Given the description of an element on the screen output the (x, y) to click on. 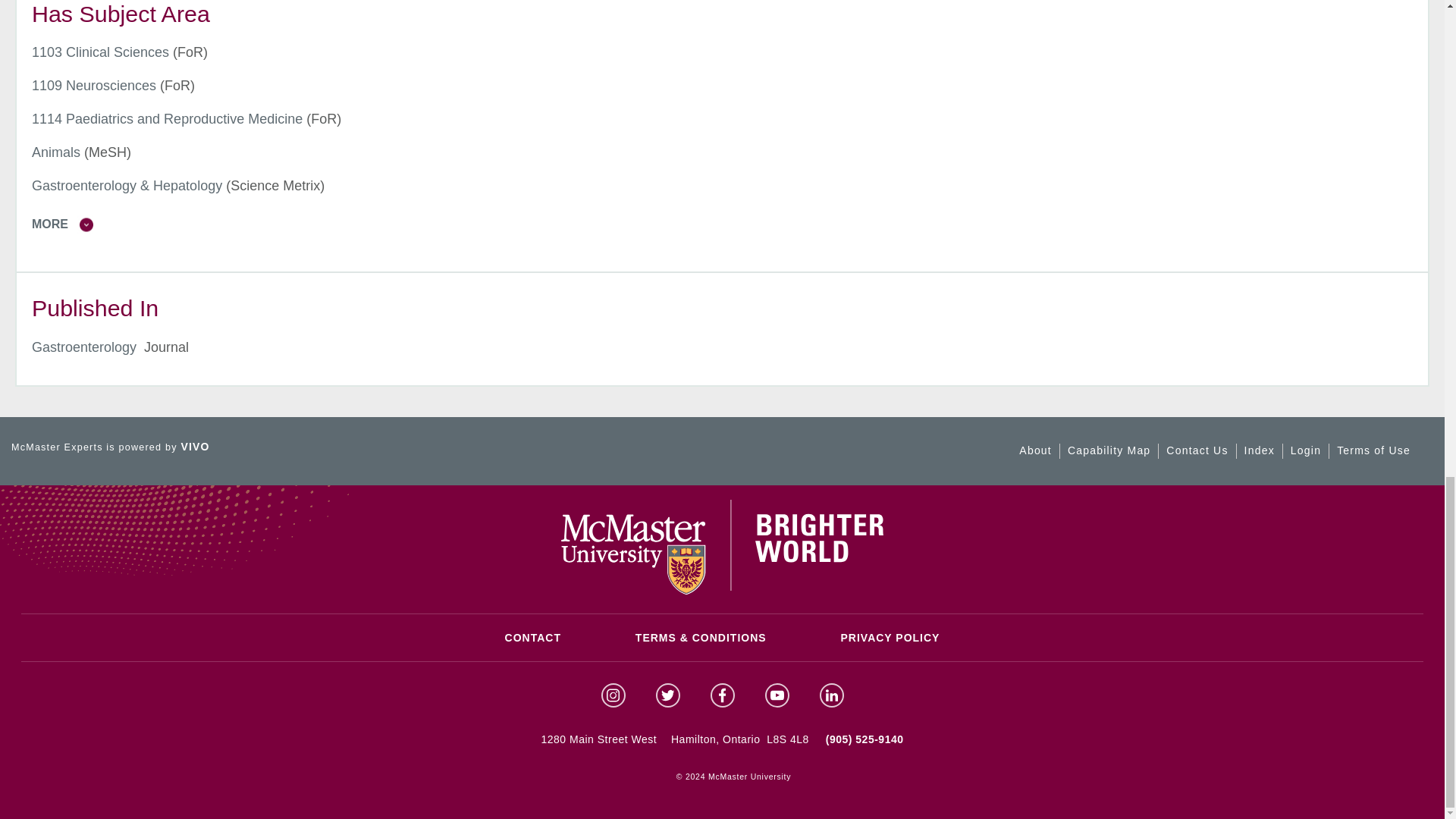
concept name (56, 151)
concept name (93, 85)
concept name (100, 52)
concept name (167, 118)
